Given the description of an element on the screen output the (x, y) to click on. 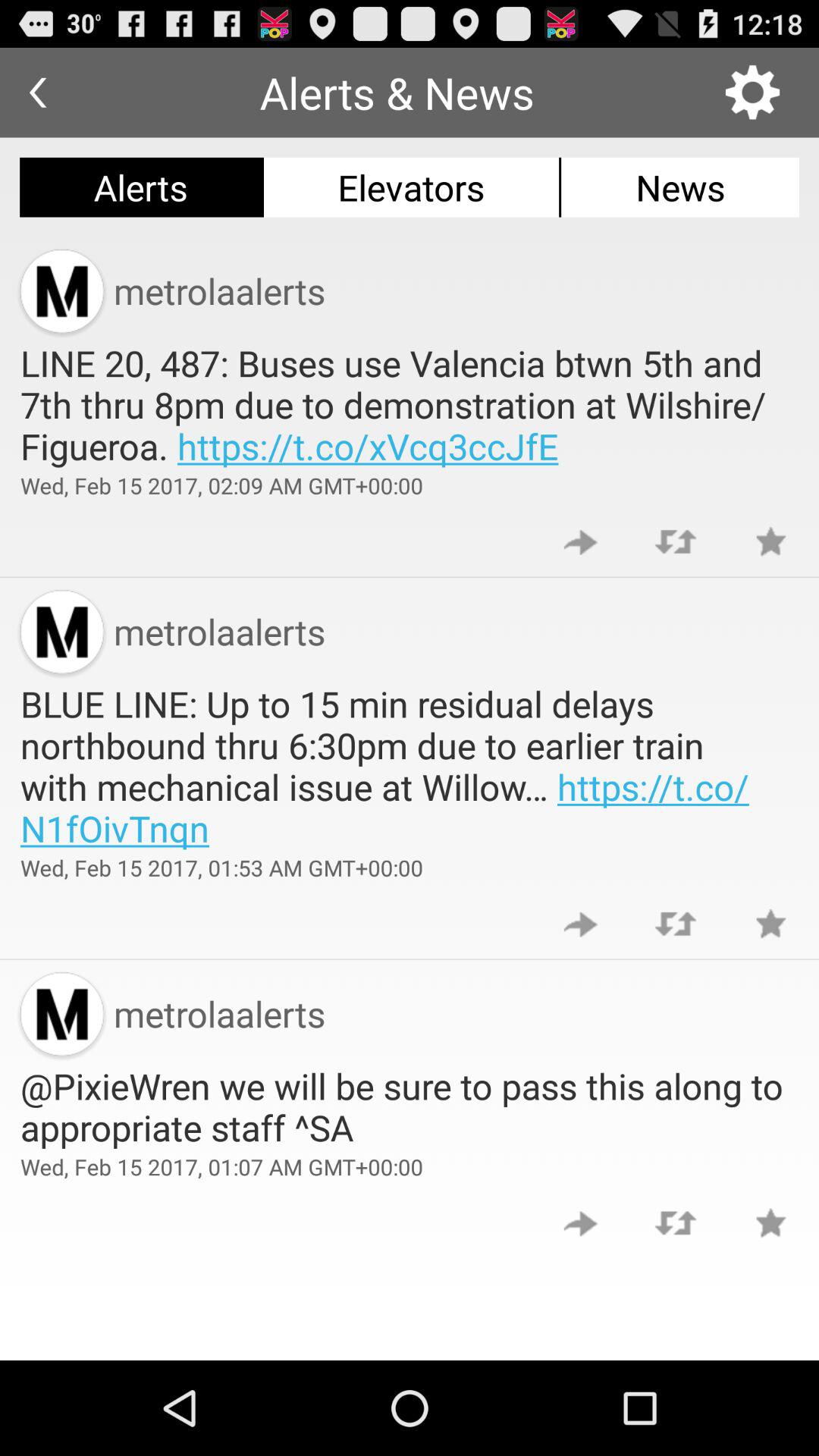
turn off app below alerts & news app (411, 187)
